Given the description of an element on the screen output the (x, y) to click on. 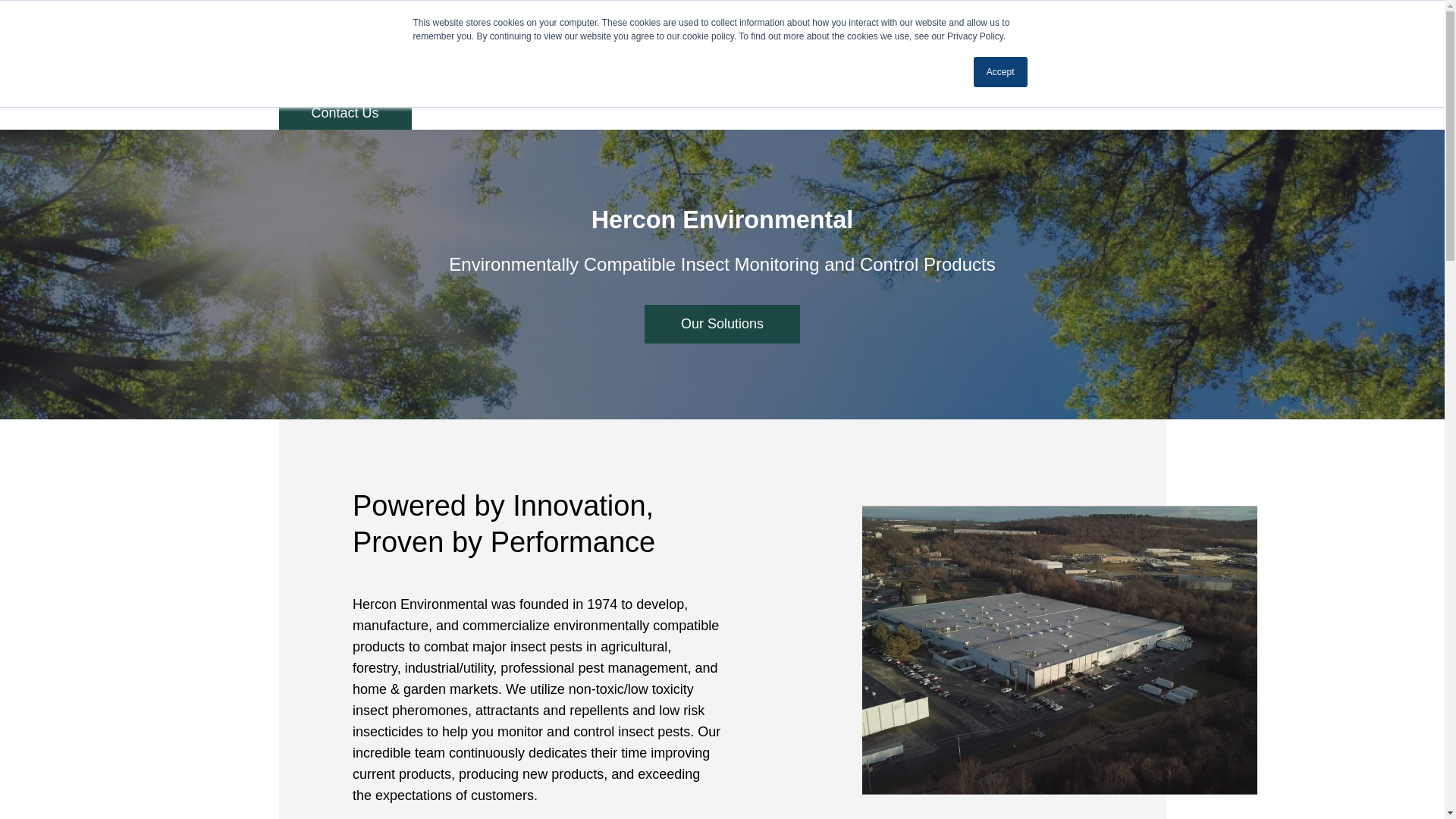
Our Solutions (722, 323)
Insecticides (711, 48)
Disruptants (800, 48)
Custom Products (906, 48)
Contact Us (345, 112)
Our Solutions (722, 323)
Accept (1000, 71)
About (996, 48)
